Given the description of an element on the screen output the (x, y) to click on. 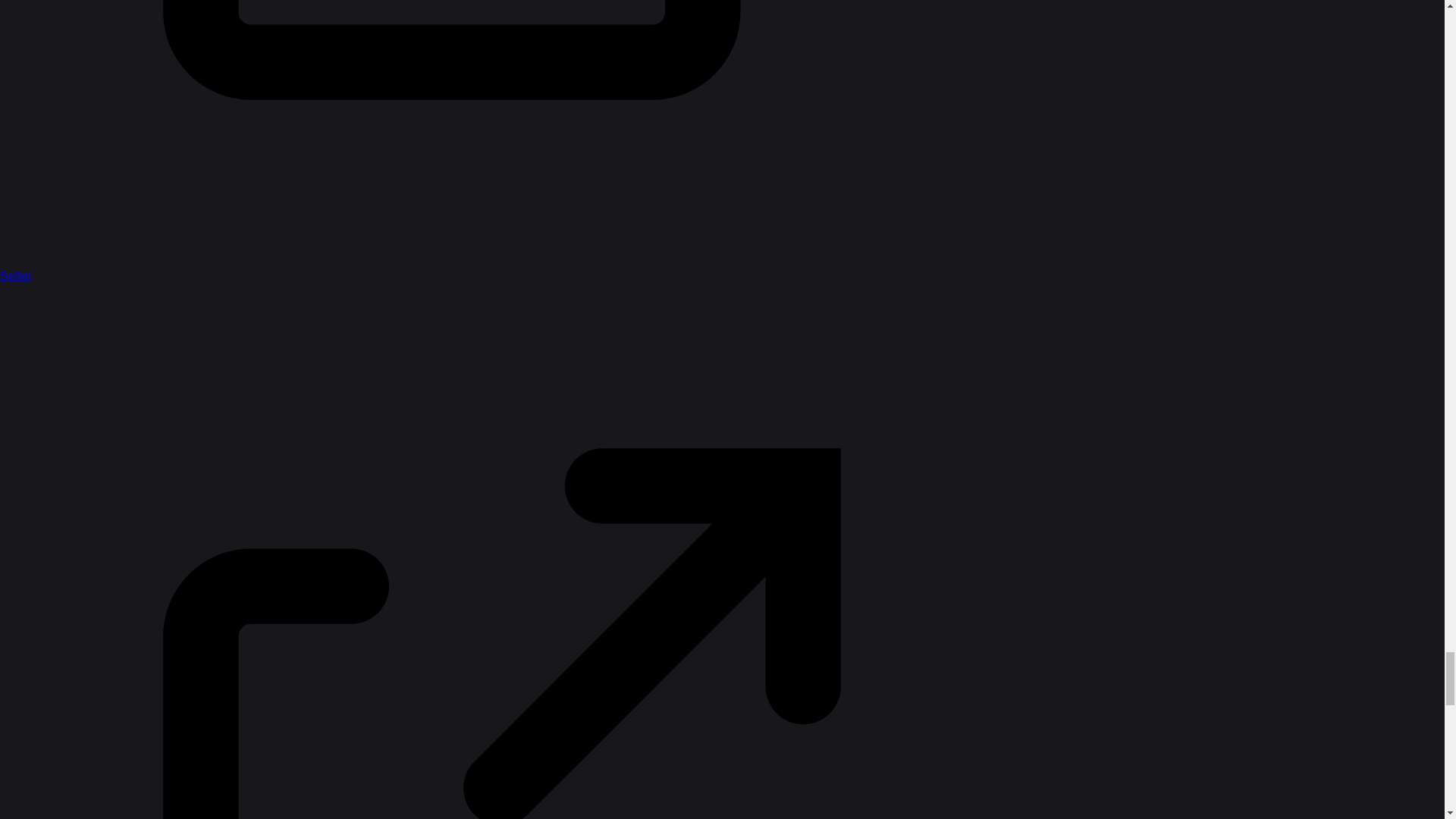
Jump to the last post (1348, 520)
Developer (438, 93)
UE4 (753, 212)
editor-freezes (852, 212)
Oct 2014 (1348, 520)
Post date (566, 291)
UE 4.2 Editor freezes when I press build (691, 176)
General (490, 212)
General (698, 93)
Vote (426, 186)
0 votes (903, 212)
2 Replies (585, 642)
Report Post (1225, 641)
bug-report (792, 212)
sie gal (466, 334)
